Given the description of an element on the screen output the (x, y) to click on. 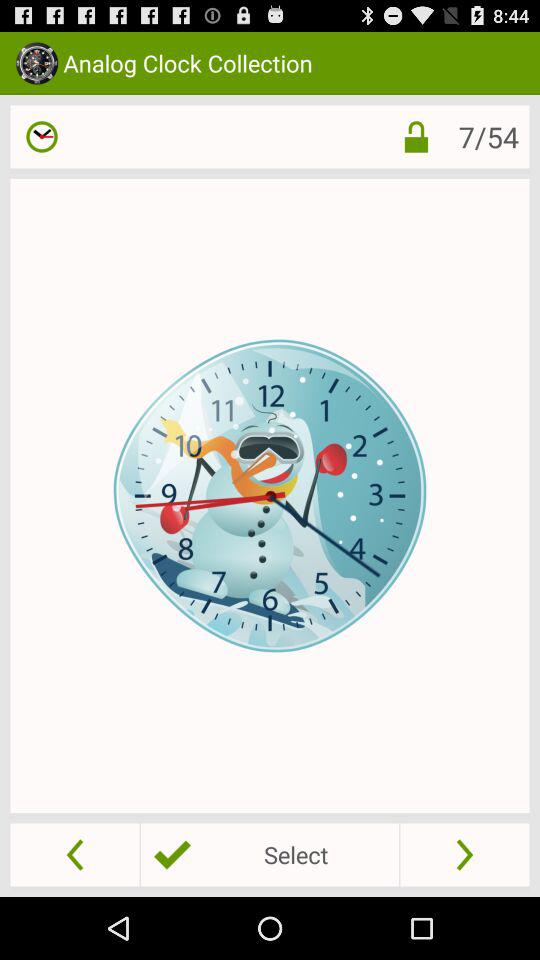
select icon next to the 7/54 (416, 136)
